Given the description of an element on the screen output the (x, y) to click on. 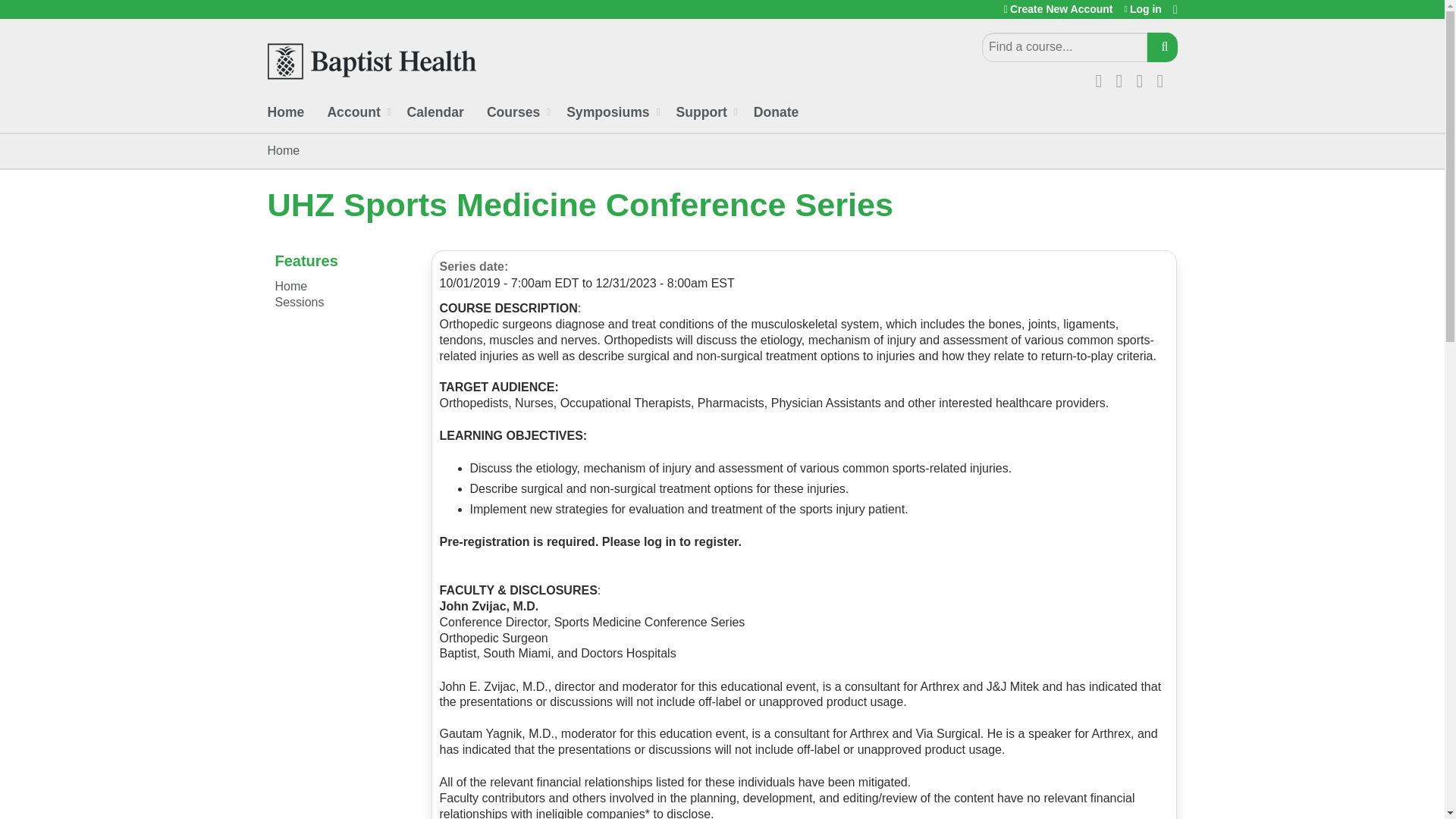
Send to a friend (1164, 78)
Home (371, 61)
Publish this post to LinkedIn (1143, 78)
Share on Facebook (1101, 78)
Share this on Twitter (1123, 78)
Search (1161, 47)
